Given the description of an element on the screen output the (x, y) to click on. 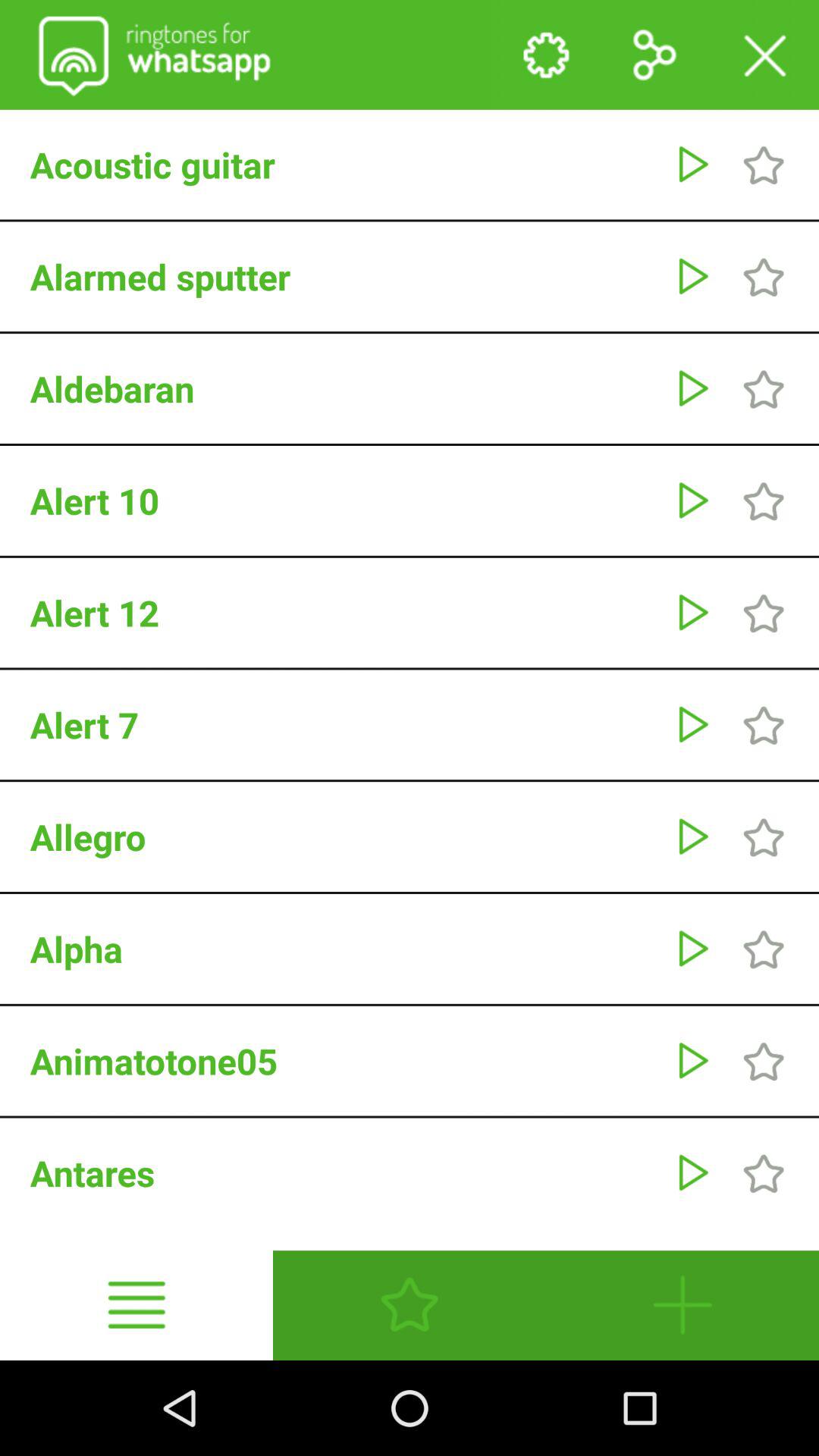
choose the alpha icon (344, 948)
